Given the description of an element on the screen output the (x, y) to click on. 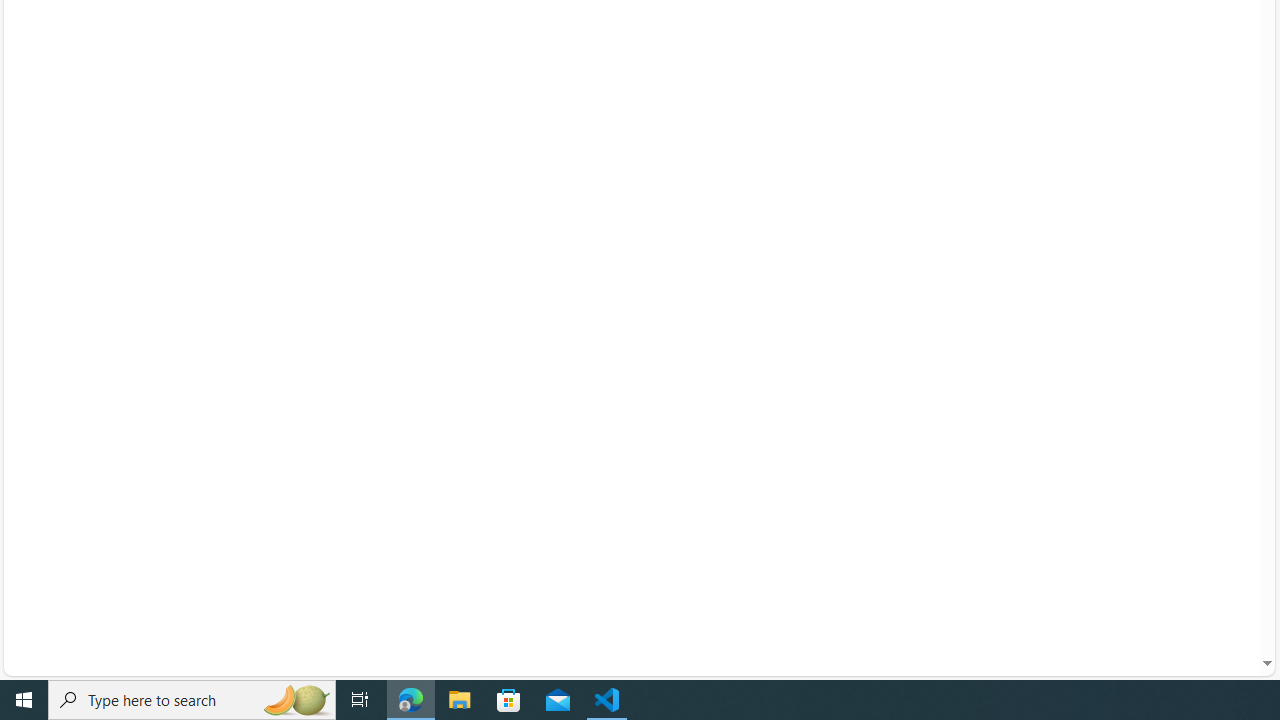
Microsoft Edge - 1 running window (411, 699)
